Given the description of an element on the screen output the (x, y) to click on. 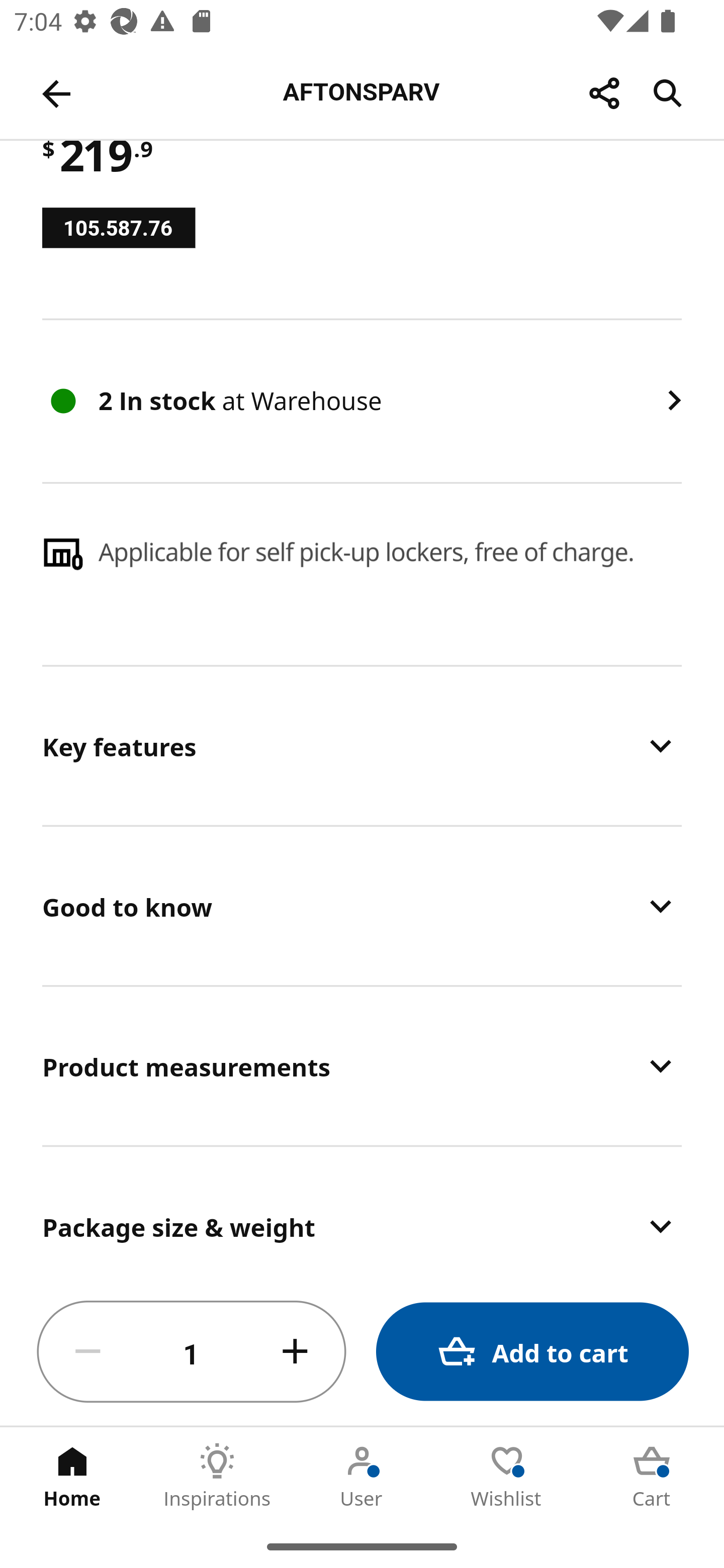
2 In stock at Warehouse (361, 400)
Key features (361, 745)
Good to know (361, 906)
Product measurements (361, 1065)
Package size & weight (361, 1213)
Add to cart (531, 1352)
1 (191, 1352)
Home
Tab 1 of 5 (72, 1476)
Inspirations
Tab 2 of 5 (216, 1476)
User
Tab 3 of 5 (361, 1476)
Wishlist
Tab 4 of 5 (506, 1476)
Cart
Tab 5 of 5 (651, 1476)
